Given the description of an element on the screen output the (x, y) to click on. 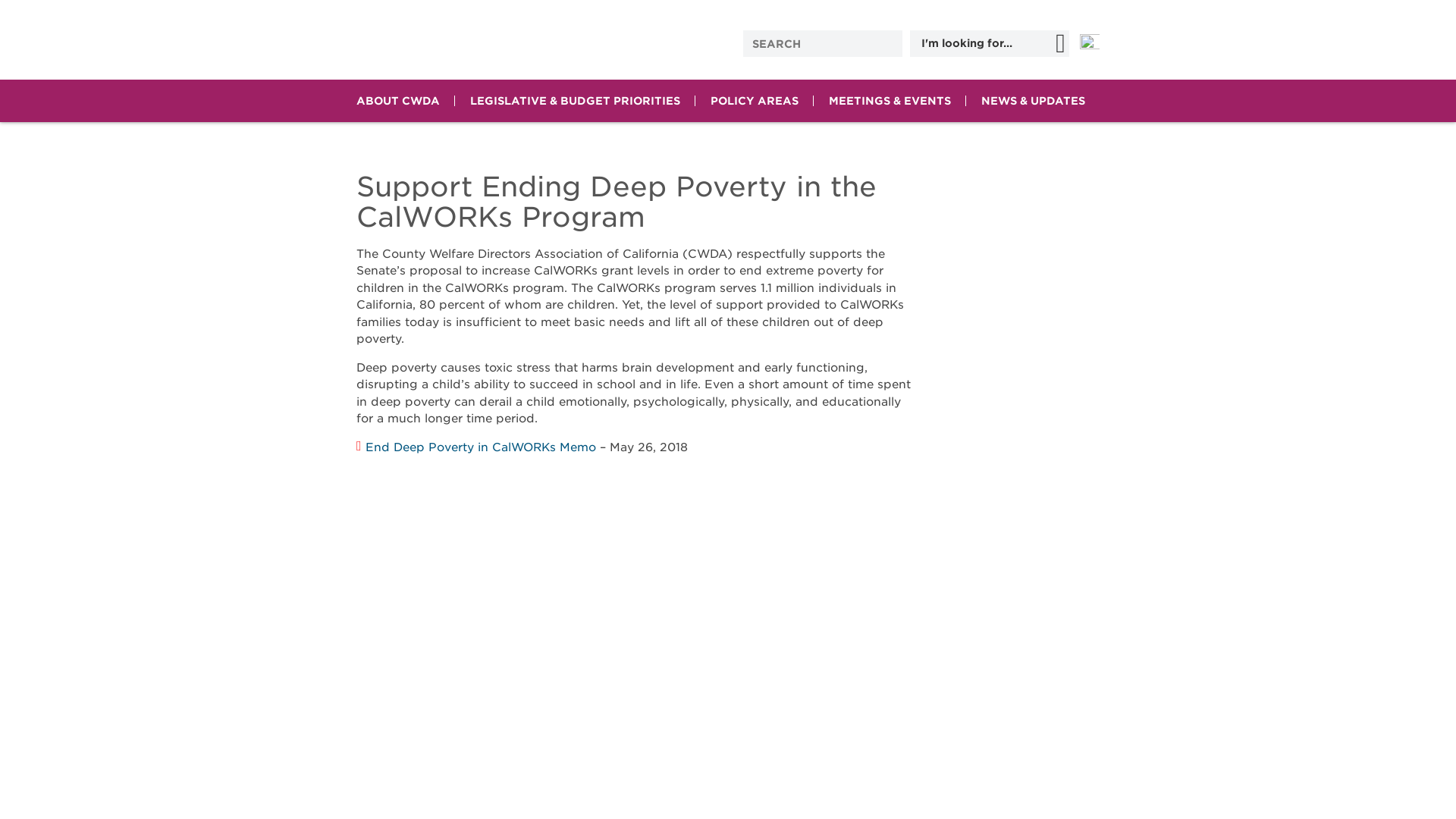
ABOUT CWDA (397, 100)
About CWDA (397, 100)
Policy Areas (754, 100)
Home (481, 39)
POLICY AREAS (754, 100)
Search keywords (807, 43)
Home (481, 39)
